Given the description of an element on the screen output the (x, y) to click on. 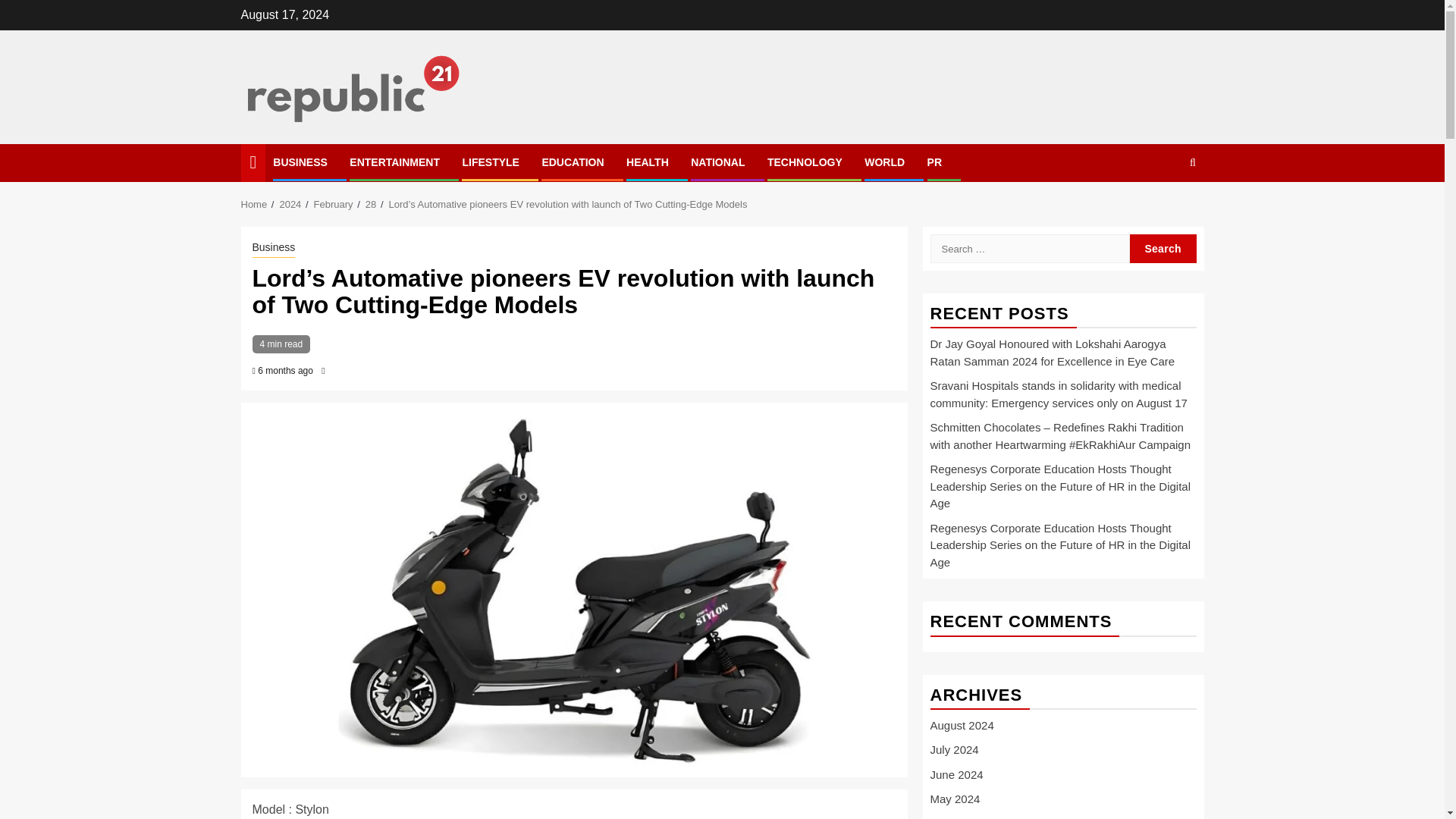
PR (934, 162)
HEALTH (647, 162)
Search (1162, 248)
February (333, 204)
2024 (290, 204)
TECHNOLOGY (805, 162)
Search (1162, 248)
Business (273, 248)
Search (1163, 208)
WORLD (884, 162)
